Given the description of an element on the screen output the (x, y) to click on. 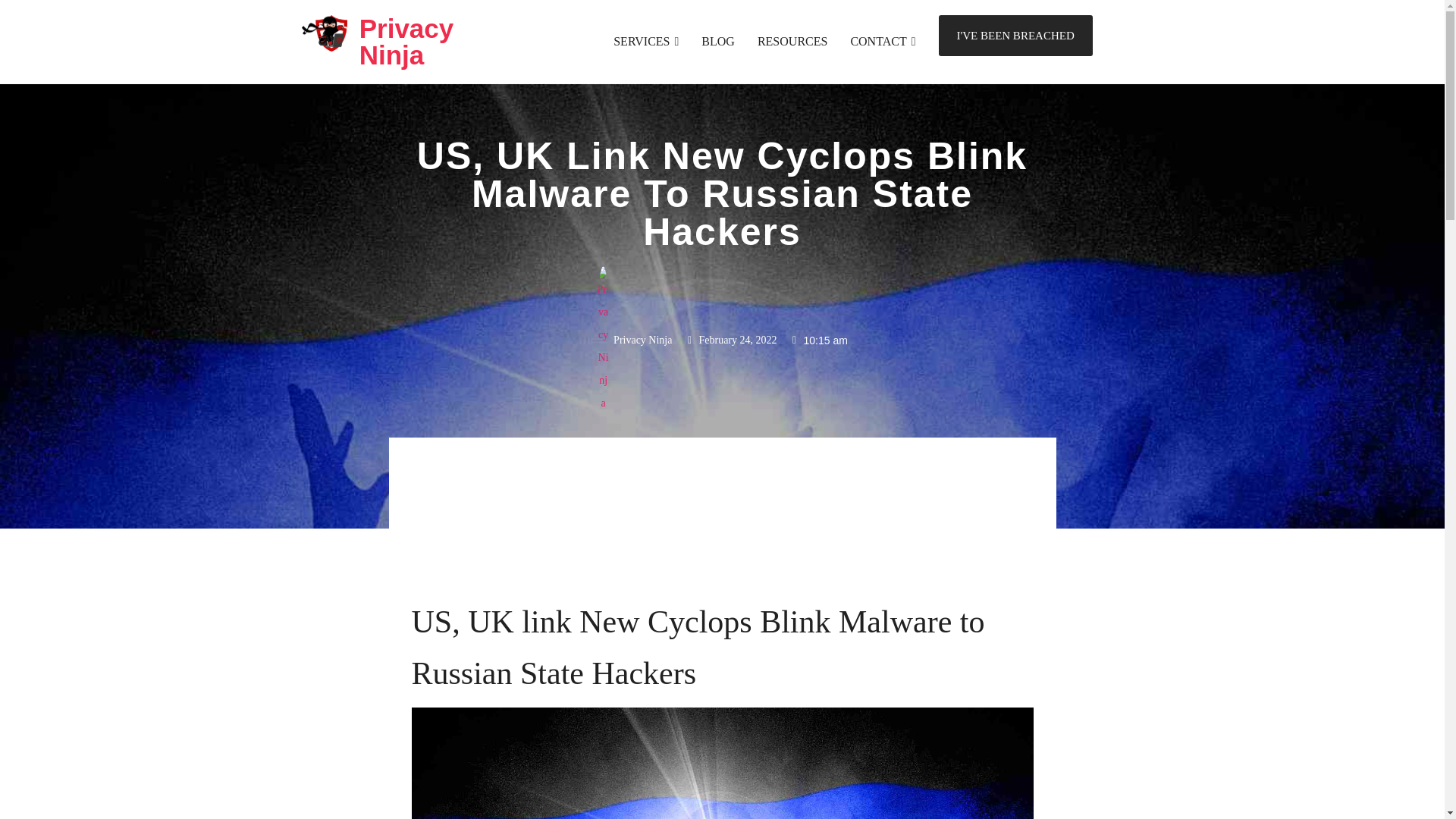
CONTACT (883, 41)
BLOG (718, 41)
February 24, 2022 (730, 340)
RESOURCES (791, 41)
SERVICES (645, 41)
I'VE BEEN BREACHED (1016, 35)
